Given the description of an element on the screen output the (x, y) to click on. 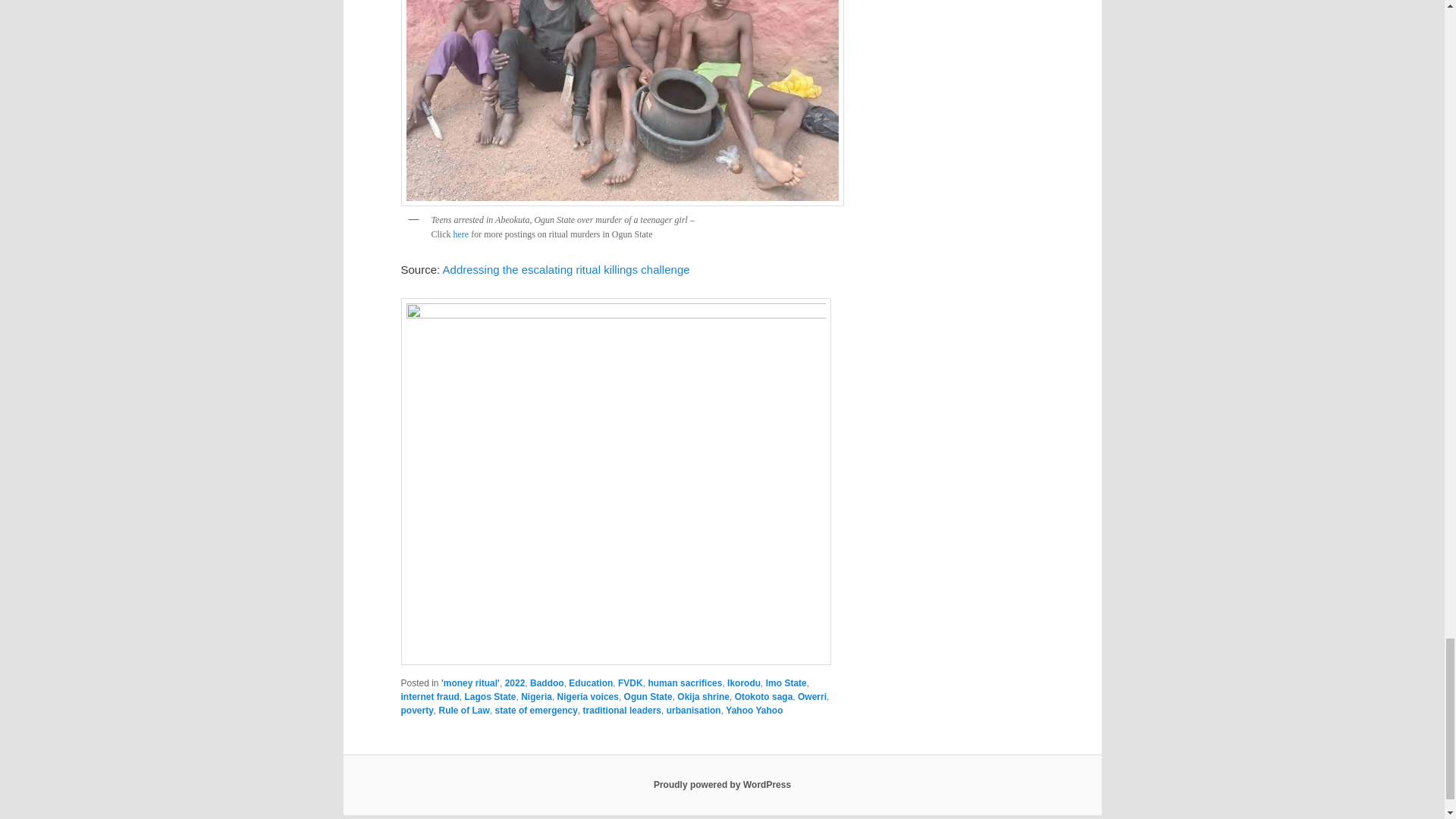
Semantic Personal Publishing Platform (721, 784)
